Given the description of an element on the screen output the (x, y) to click on. 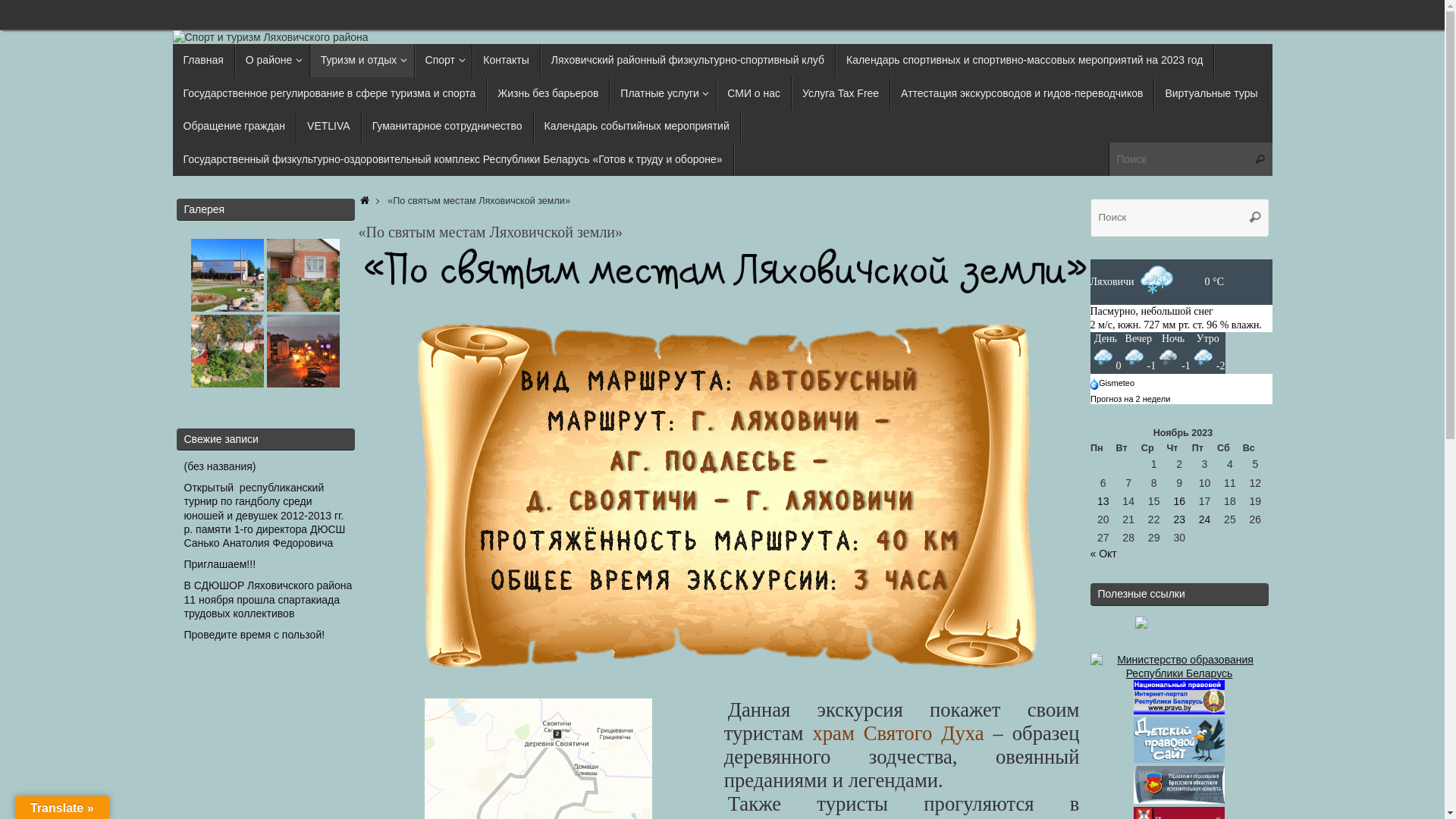
Image_25 Element type: hover (303, 350)
Image_16 Element type: hover (227, 350)
Image_21 Element type: hover (227, 274)
23 Element type: text (1179, 519)
VETLIVA Element type: text (328, 125)
13 Element type: text (1103, 501)
24 Element type: text (1204, 519)
16 Element type: text (1179, 501)
Image_36 Element type: hover (303, 274)
